Given the description of an element on the screen output the (x, y) to click on. 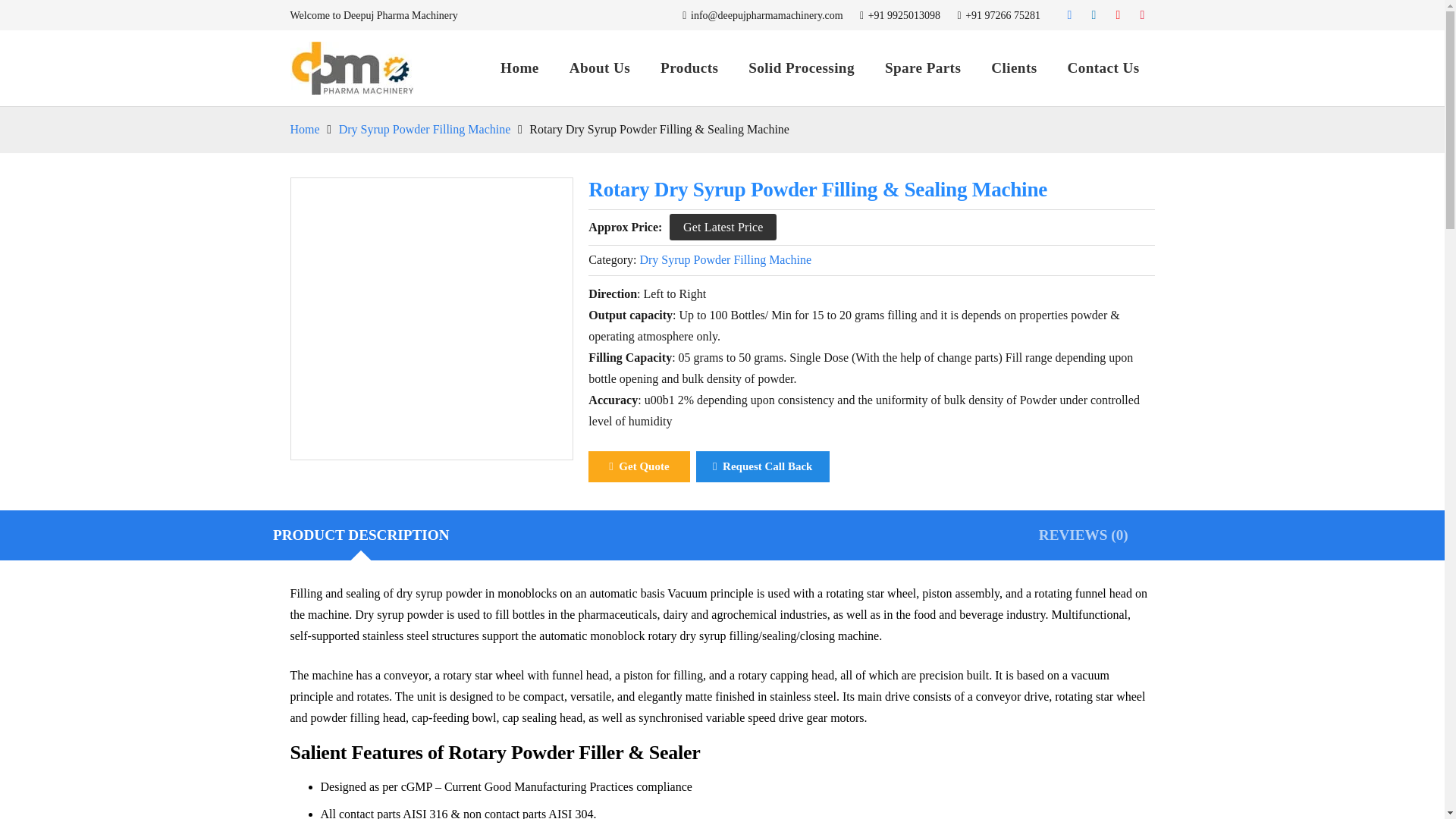
Facebook (1069, 15)
Products (689, 68)
Home (519, 68)
About Us (599, 68)
Spare Parts (922, 68)
Solid Processing (801, 68)
LinkedIn (1093, 15)
YouTube (1118, 15)
Pinterest (1142, 15)
